Given the description of an element on the screen output the (x, y) to click on. 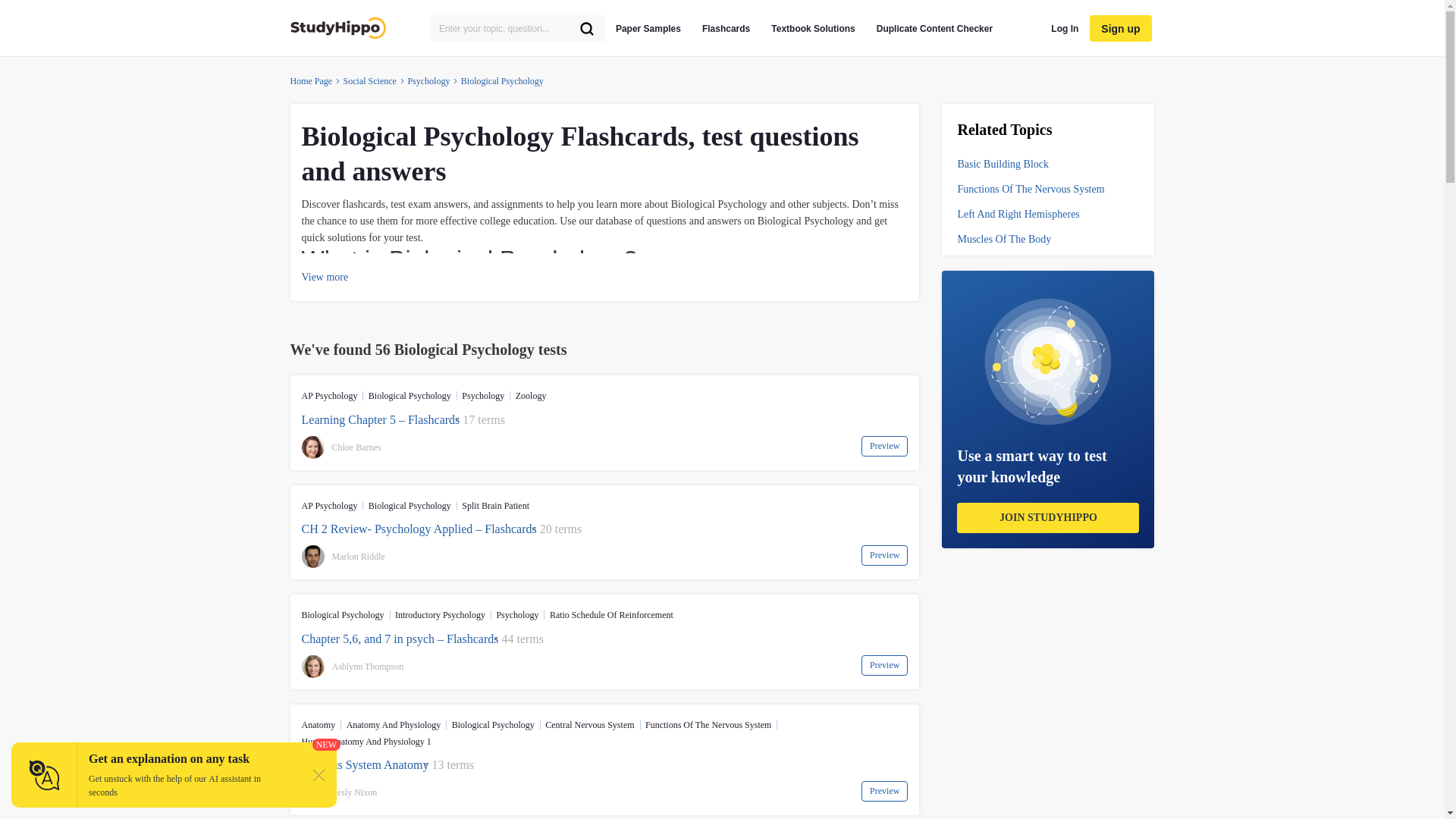
Flashcards (725, 28)
Log In (1064, 28)
Textbook Solutions (812, 28)
Paper Samples (648, 28)
Nervous System Anatomy 13 terms (604, 764)
Psychology (428, 80)
Sign up (1120, 28)
Social Science (369, 80)
Duplicate Content Checker (934, 28)
View more (325, 277)
Home Page (310, 80)
